Given the description of an element on the screen output the (x, y) to click on. 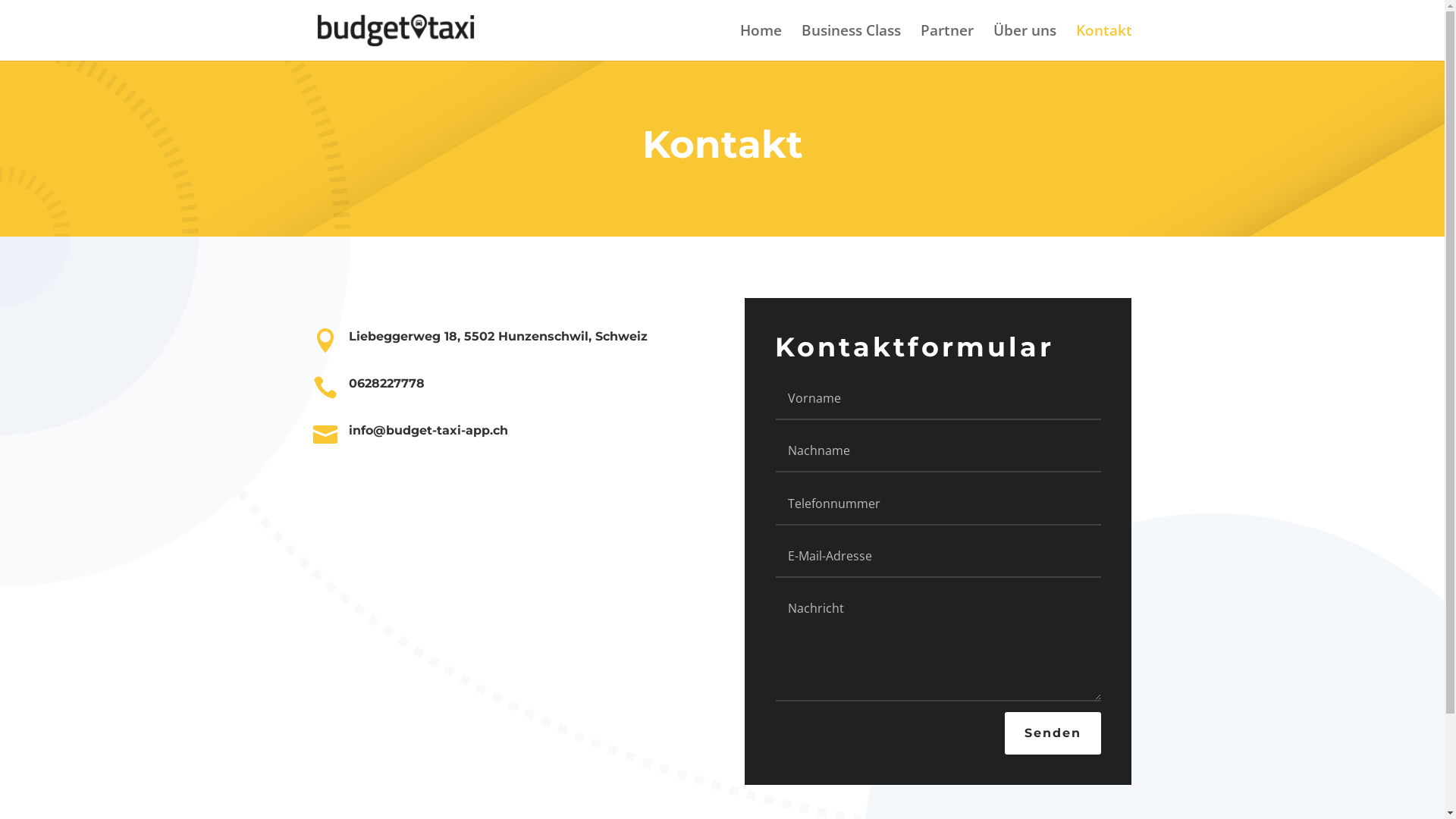
Business Class Element type: text (850, 42)
Home Element type: text (760, 42)
Nur Zahlen erlaubt. Element type: hover (938, 504)
Partner Element type: text (946, 42)
Senden Element type: text (1052, 733)
Kontakt Element type: text (1103, 42)
